Given the description of an element on the screen output the (x, y) to click on. 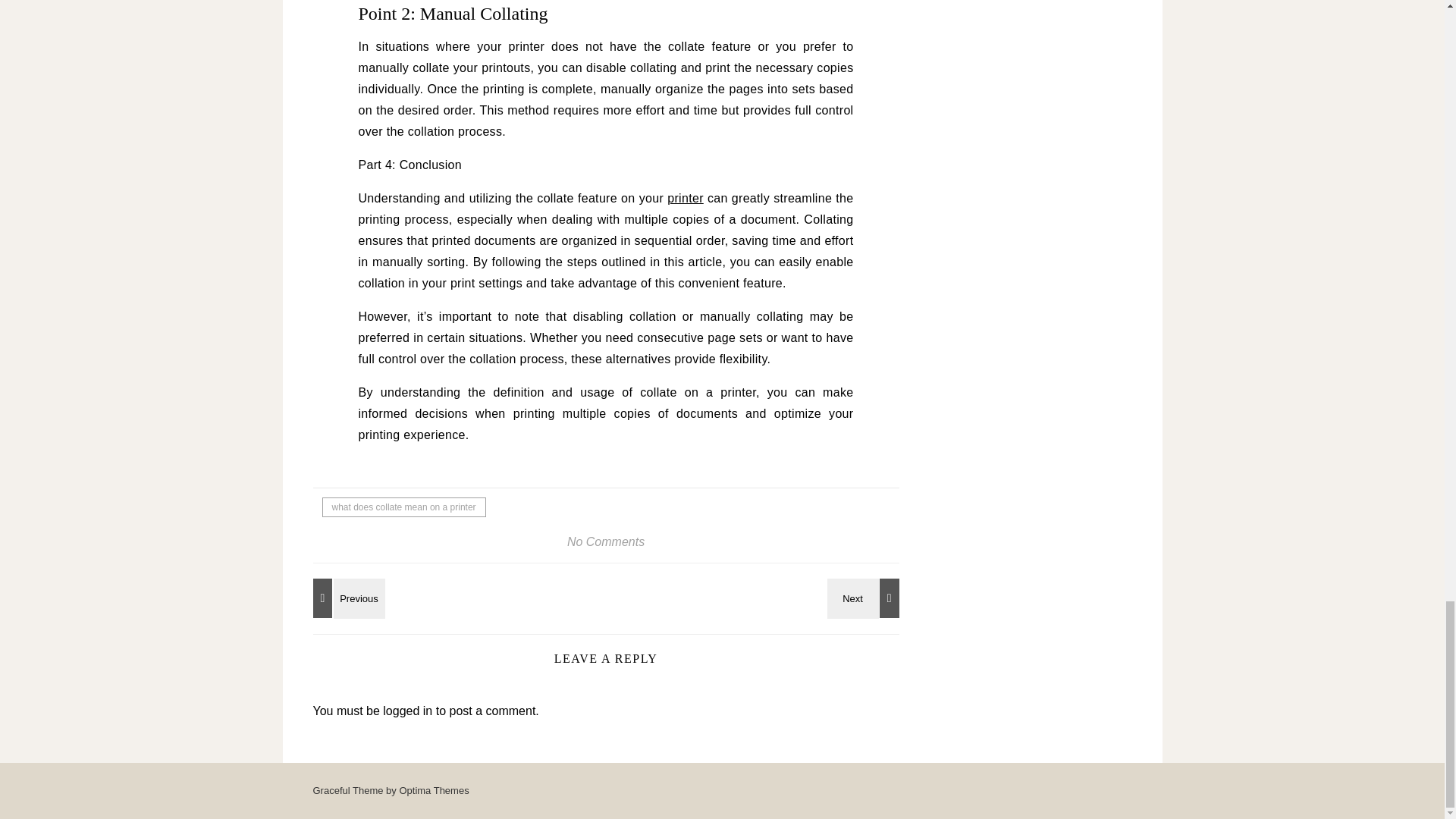
HP Printer Drivers: Download and Install for Performance (346, 598)
what does collate mean on a printer (402, 506)
Connect Chromebook to Printer: Simple Setup (865, 598)
Optima Themes (433, 790)
printer (684, 197)
No Comments (606, 541)
logged in (407, 710)
